Given the description of an element on the screen output the (x, y) to click on. 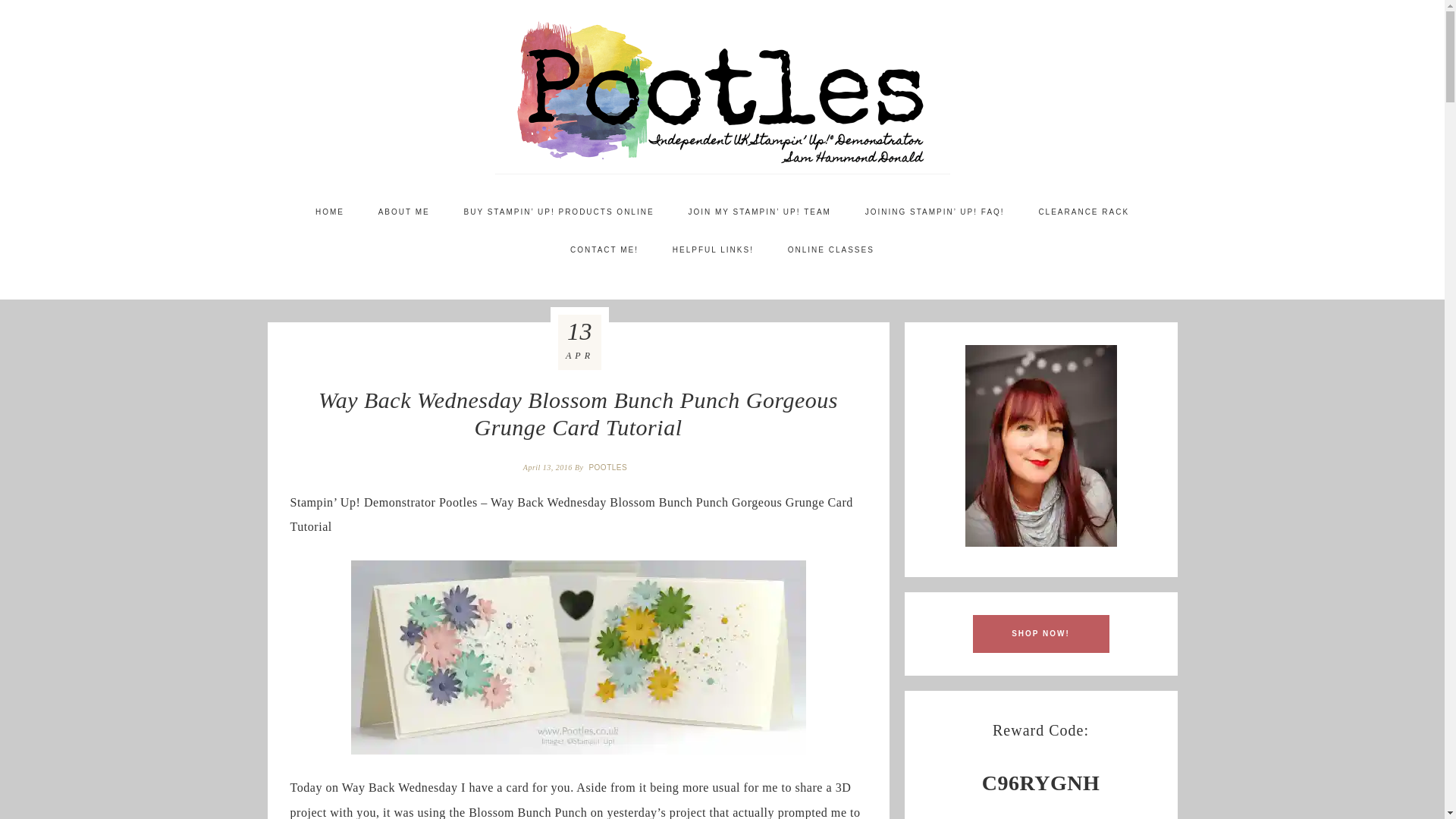
ONLINE CLASSES (831, 249)
CONTACT ME! (603, 249)
POOTLES (609, 467)
HELPFUL LINKS! (713, 249)
HOME (329, 211)
ABOUT ME (403, 211)
CLEARANCE RACK (1083, 211)
